Given the description of an element on the screen output the (x, y) to click on. 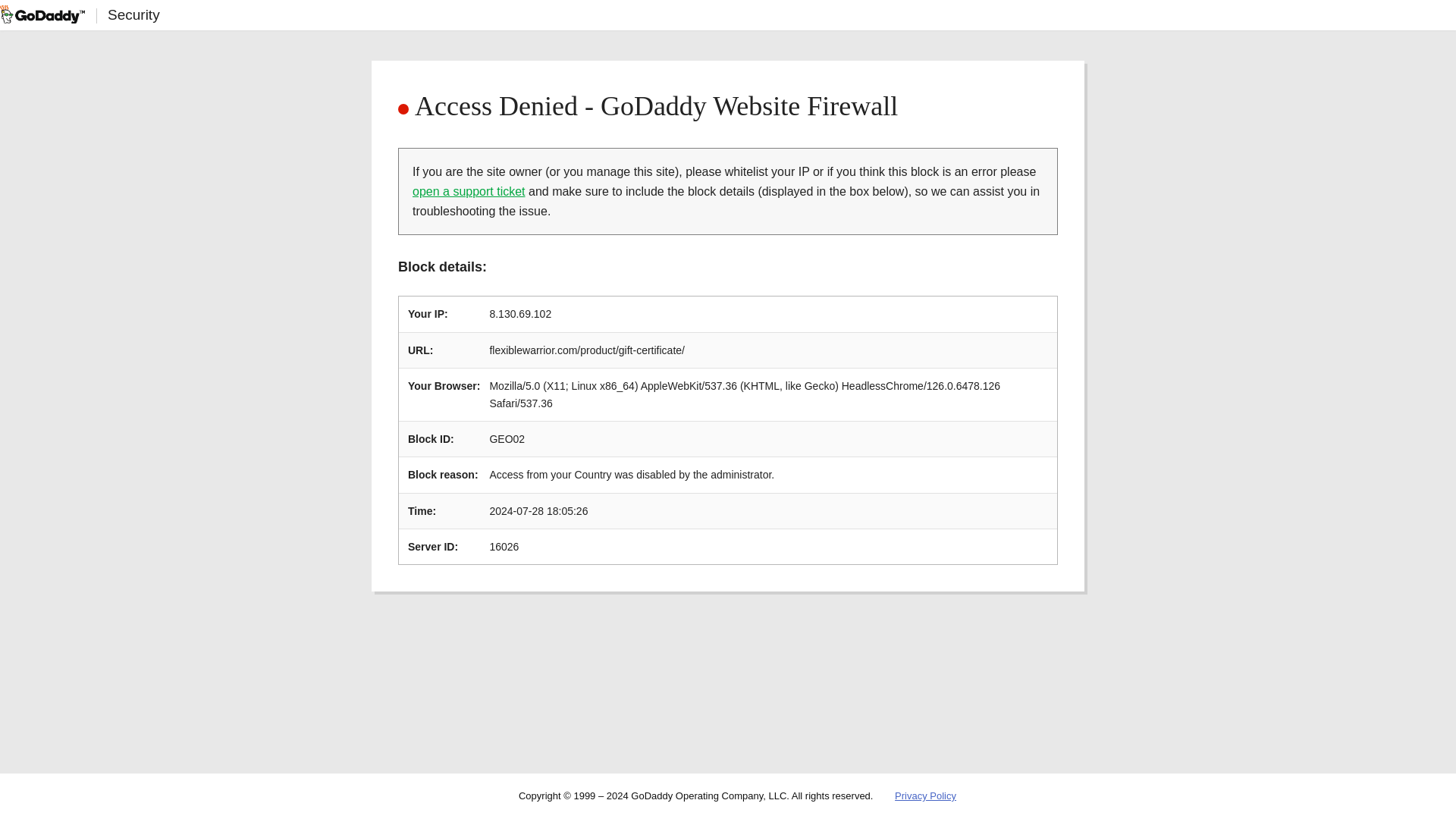
open a support ticket (468, 191)
Privacy Policy (925, 795)
